Given the description of an element on the screen output the (x, y) to click on. 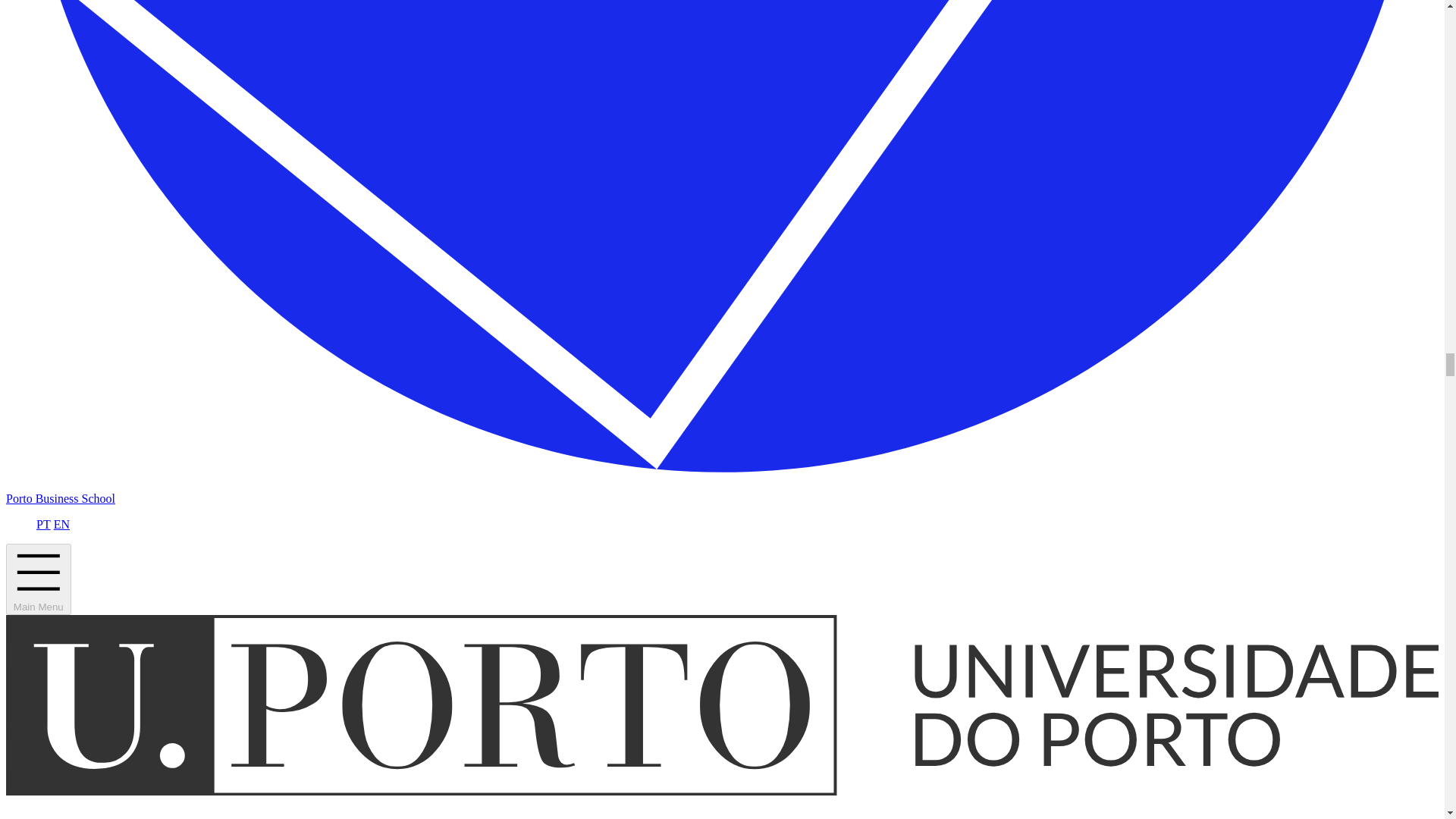
EN (61, 523)
Change language to English (61, 523)
Change language to Portuguese (43, 523)
PT (43, 523)
